Given the description of an element on the screen output the (x, y) to click on. 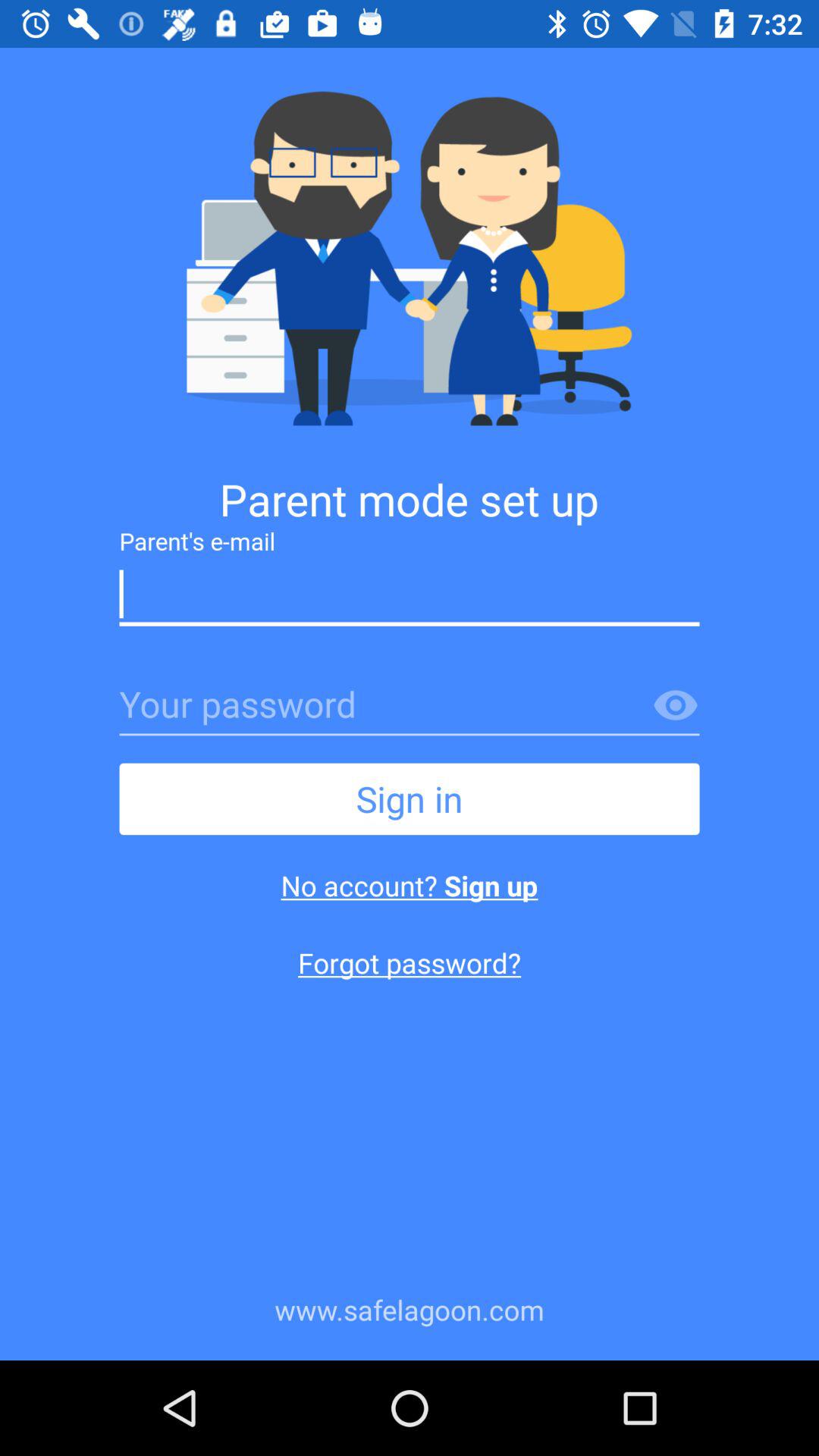
show password (675, 705)
